Given the description of an element on the screen output the (x, y) to click on. 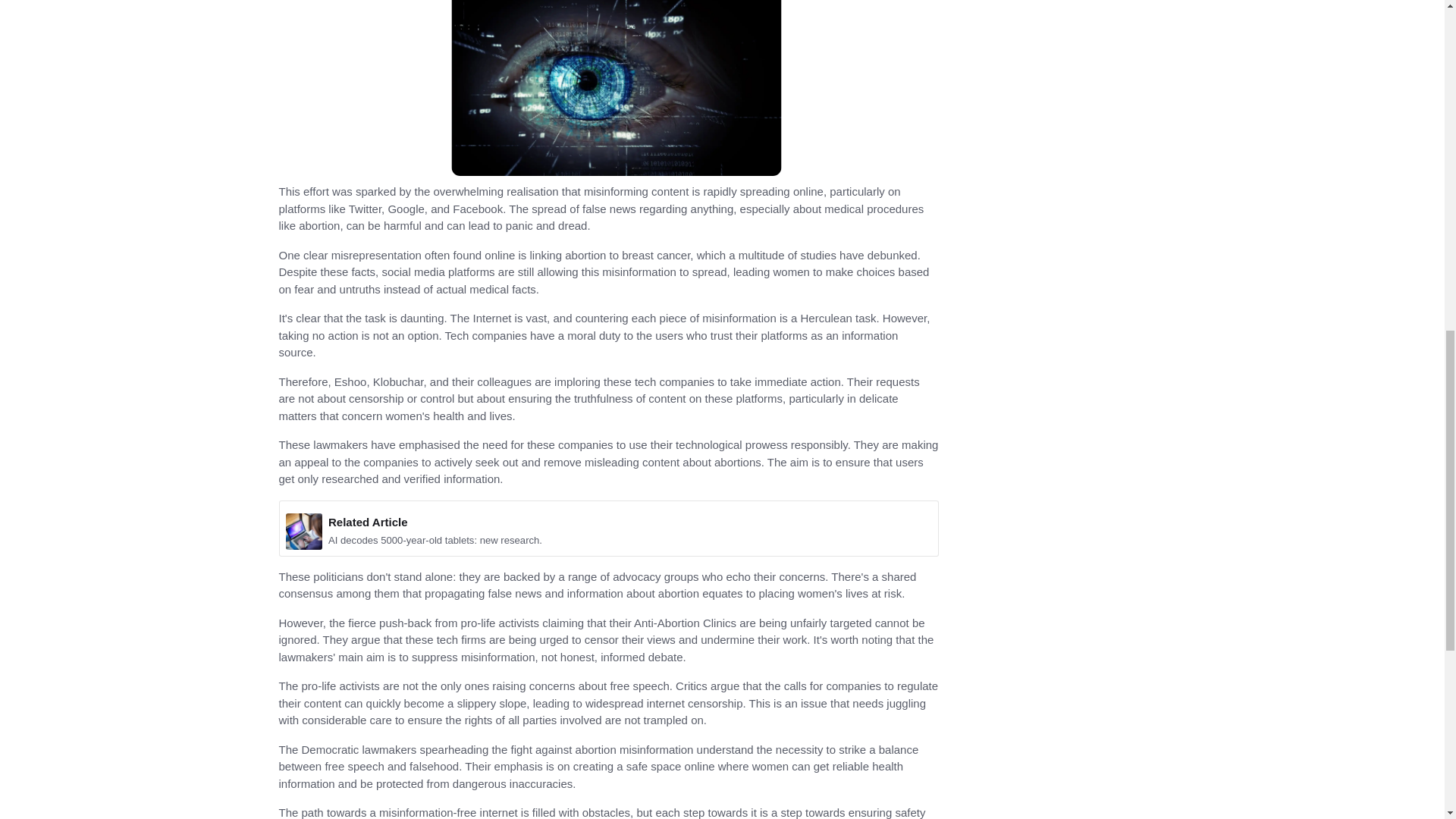
Advertisement (1063, 64)
